Given the description of an element on the screen output the (x, y) to click on. 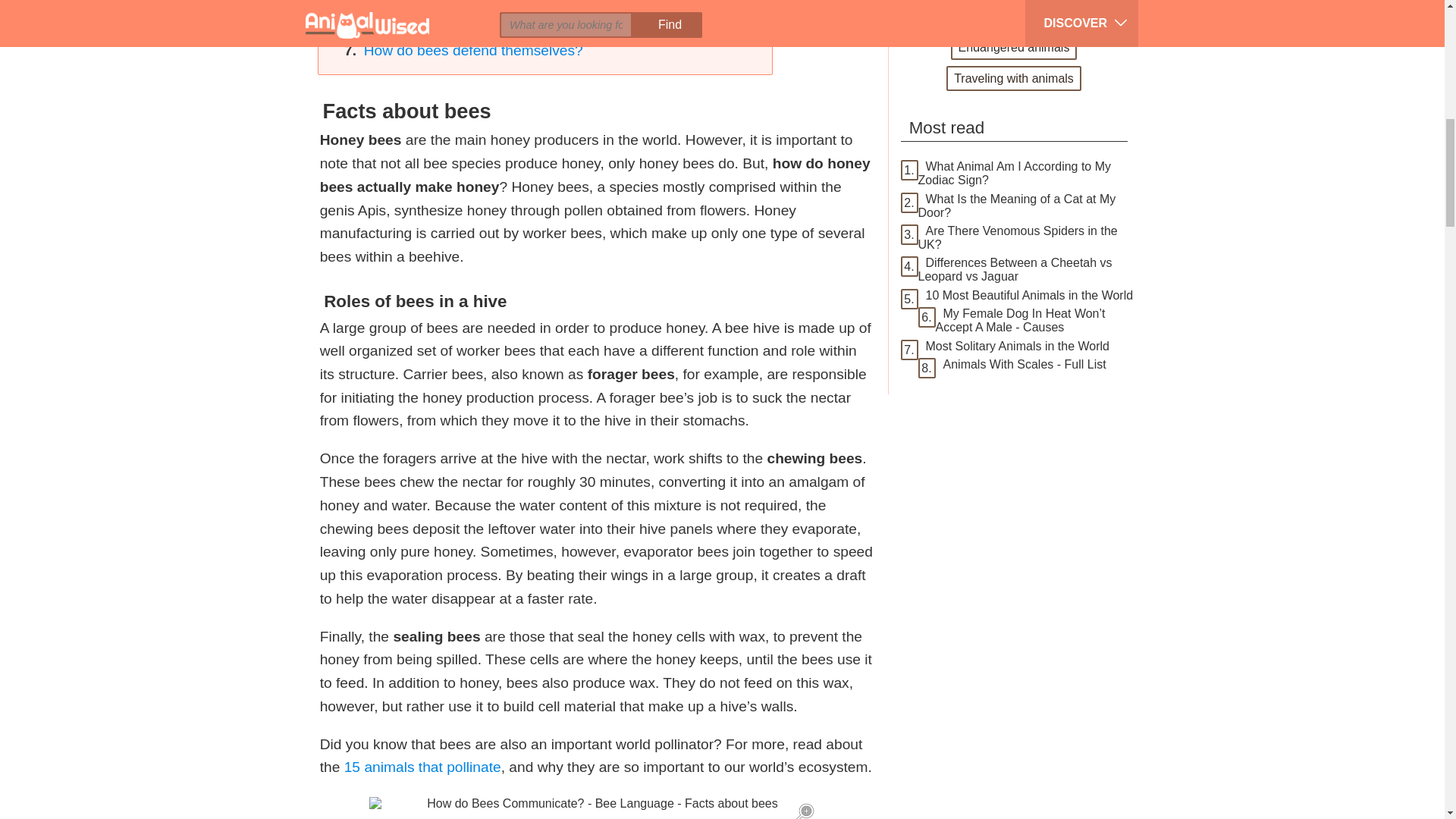
15 animals that pollinate (421, 766)
Bee communication dance (449, 4)
What do bees eat? (425, 26)
How do bees defend themselves? (473, 50)
